Given the description of an element on the screen output the (x, y) to click on. 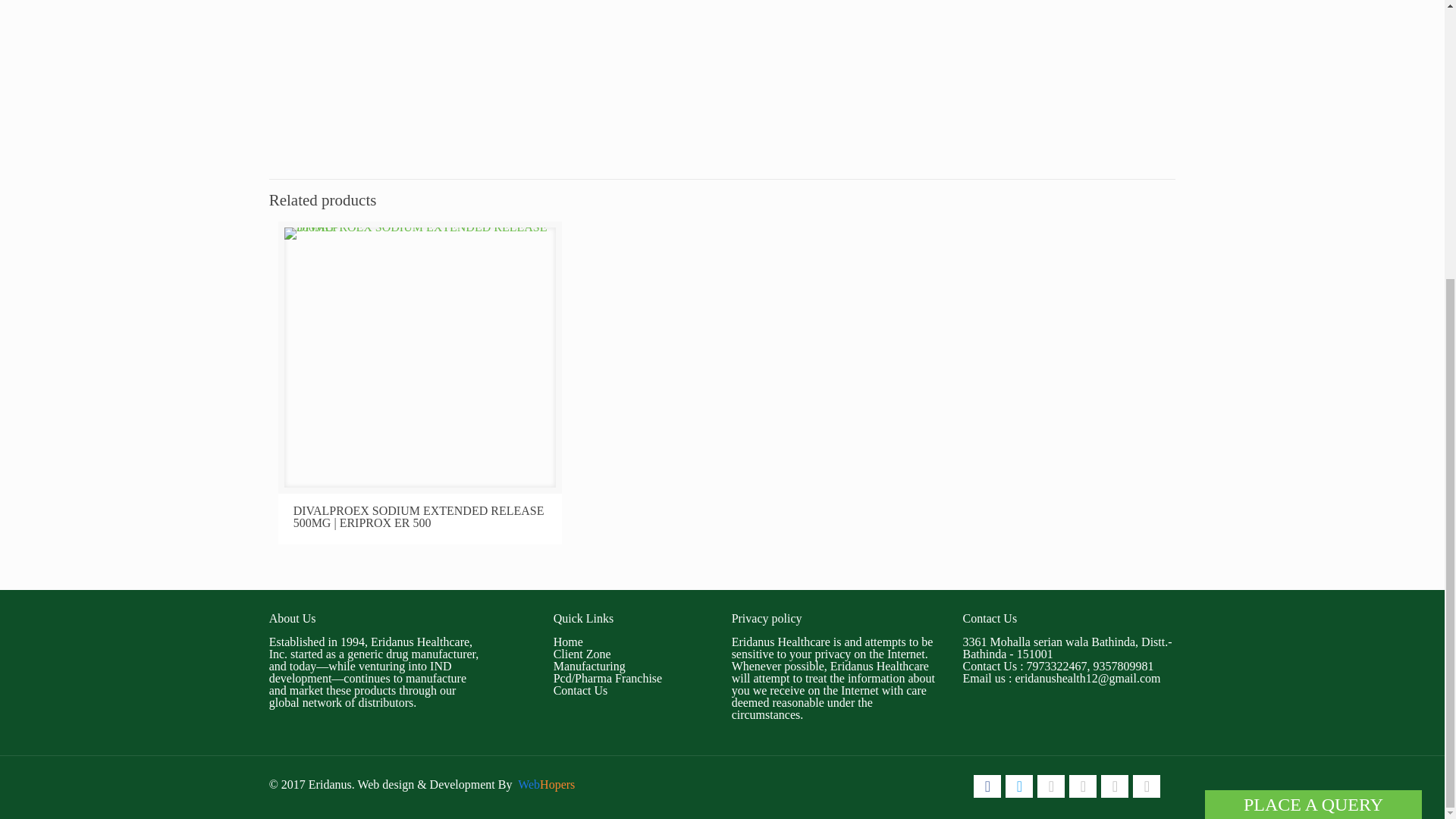
Twitter (1019, 785)
Pharmahoper (1146, 785)
LinkedIn (1050, 785)
Facebook (987, 785)
Instagram (1114, 785)
Pinterest (1082, 785)
